Given the description of an element on the screen output the (x, y) to click on. 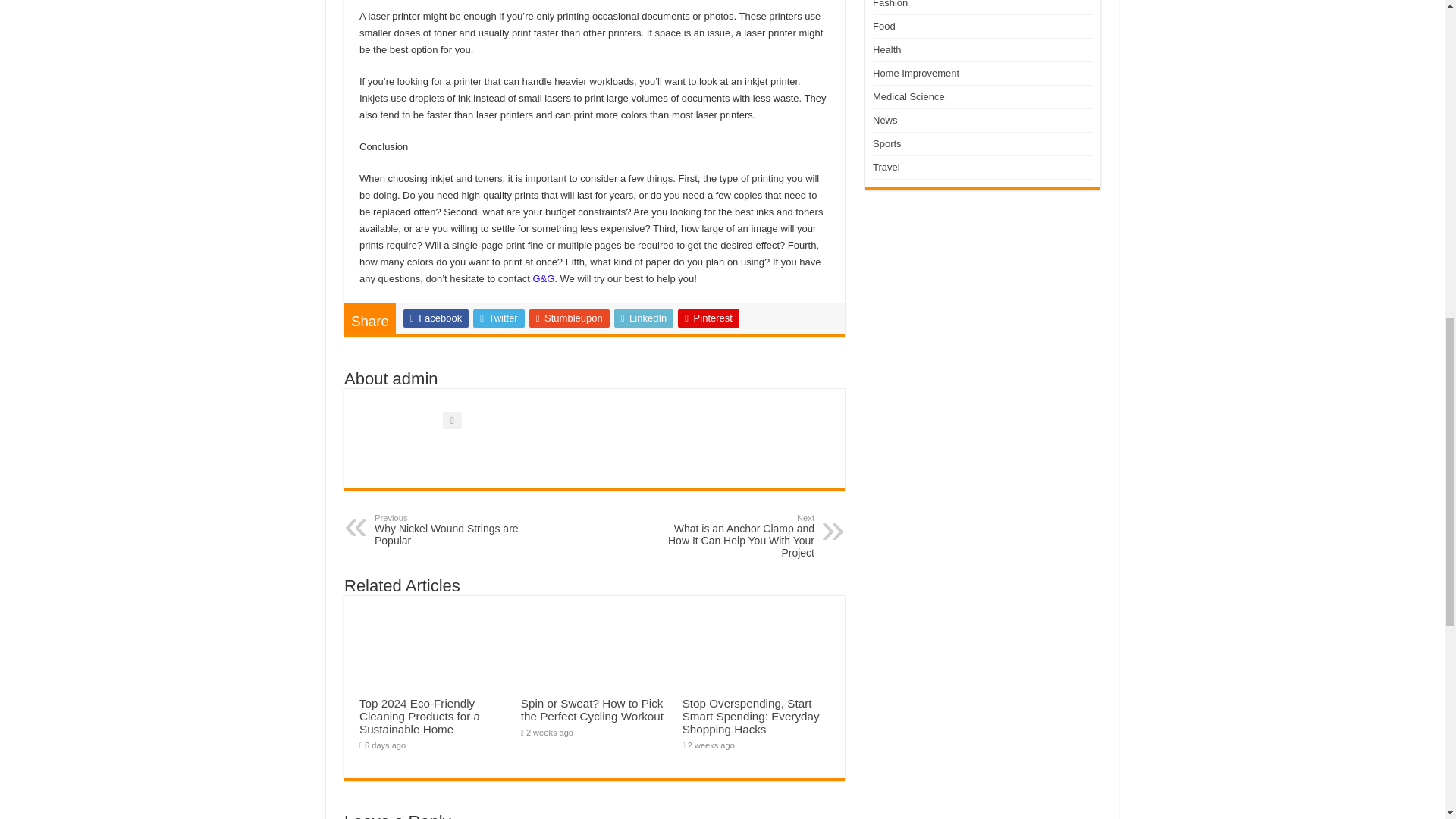
Facebook (435, 318)
Stumbleupon (569, 318)
Twitter (498, 318)
LinkedIn (451, 530)
Pinterest (644, 318)
